Given the description of an element on the screen output the (x, y) to click on. 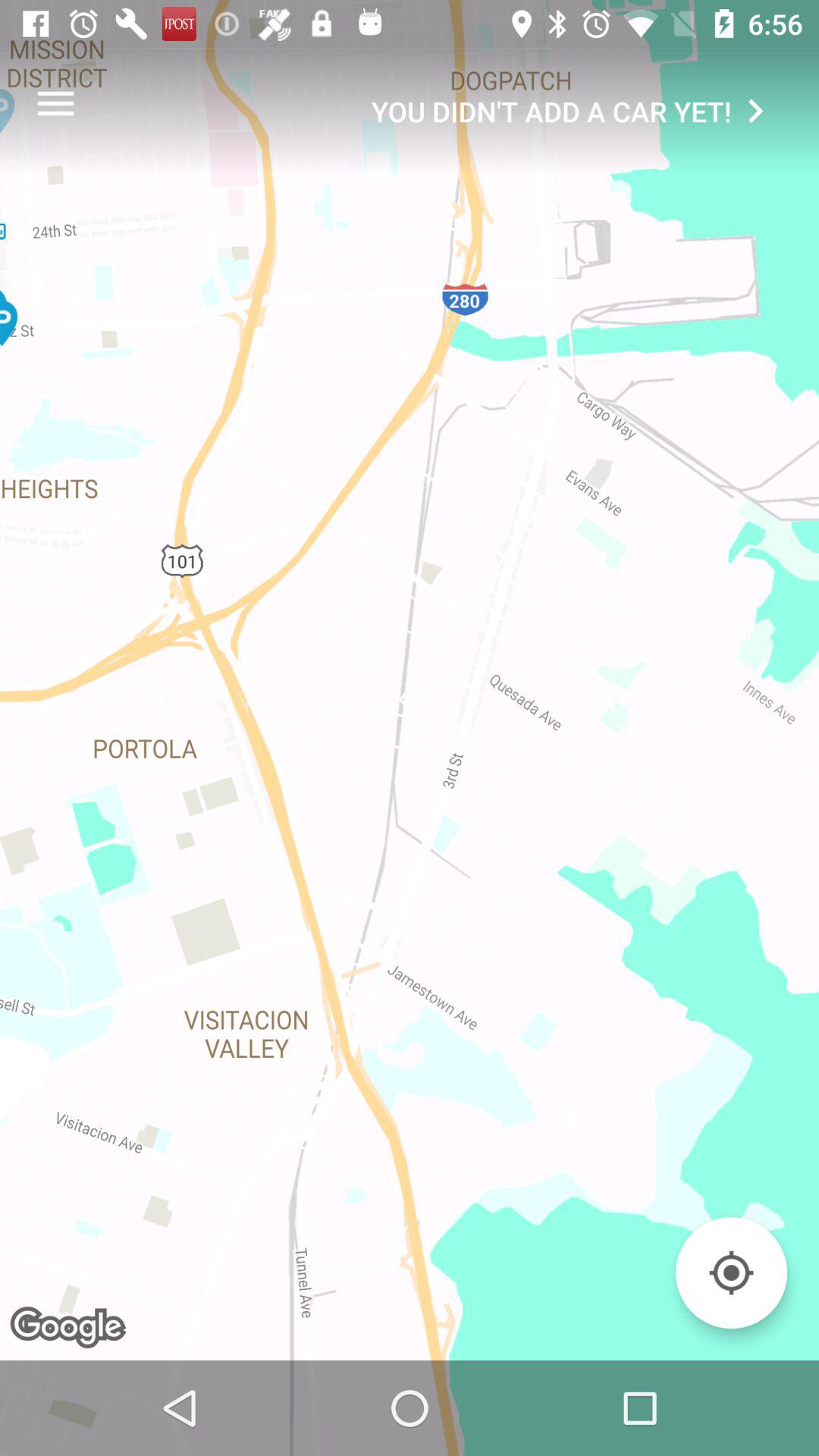
your location (731, 1272)
